Given the description of an element on the screen output the (x, y) to click on. 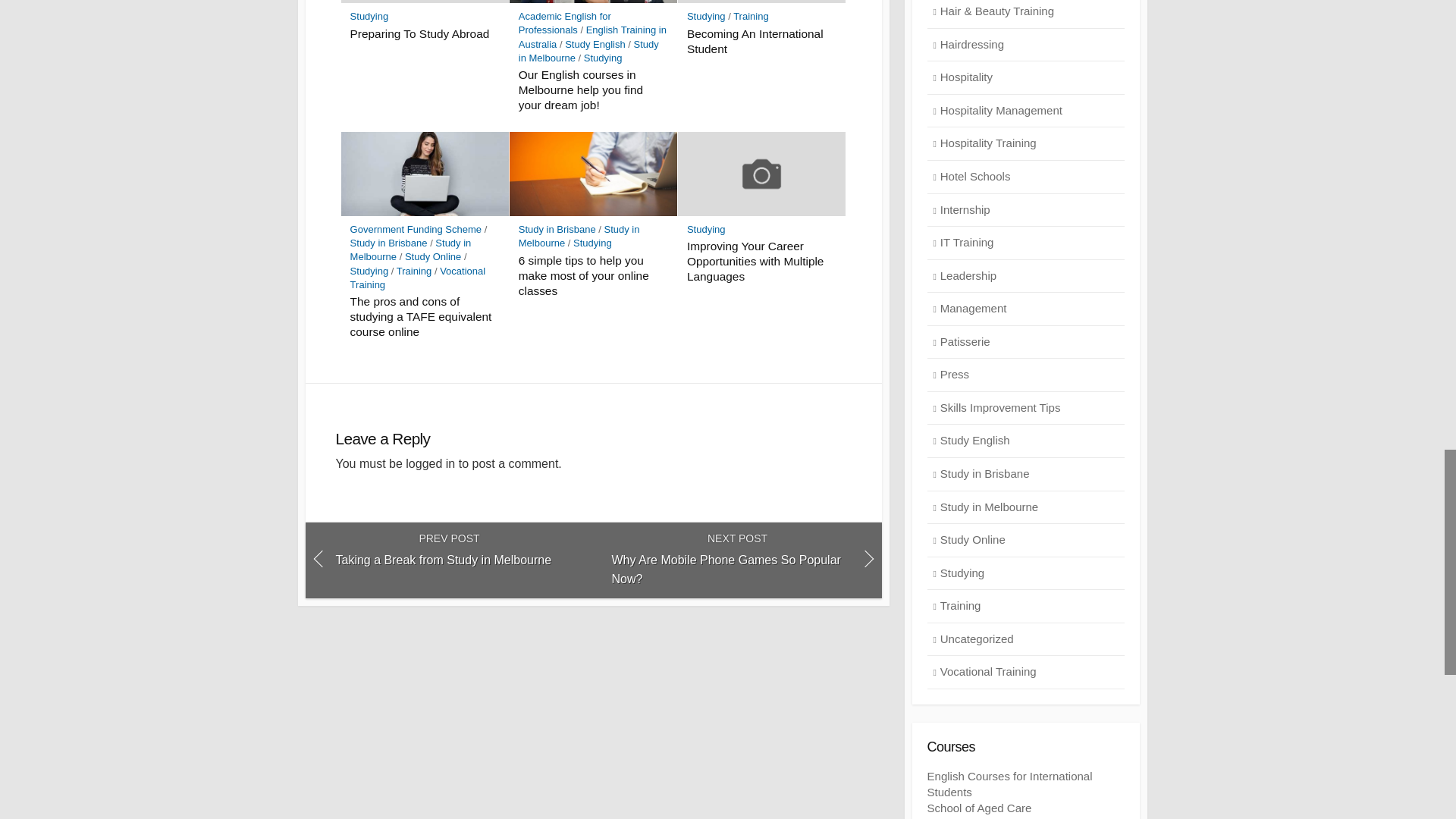
Preparing To Study Abroad (425, 33)
Training (413, 270)
Vocational Training (418, 277)
Study English (595, 43)
Study in Brisbane (389, 242)
English Training in Australia (592, 36)
Study in Melbourne (410, 249)
Academic English for Professionals (564, 23)
Studying (369, 270)
Government Funding Scheme (415, 229)
Becoming An International Student (762, 41)
Studying (603, 57)
Studying (706, 16)
